Given the description of an element on the screen output the (x, y) to click on. 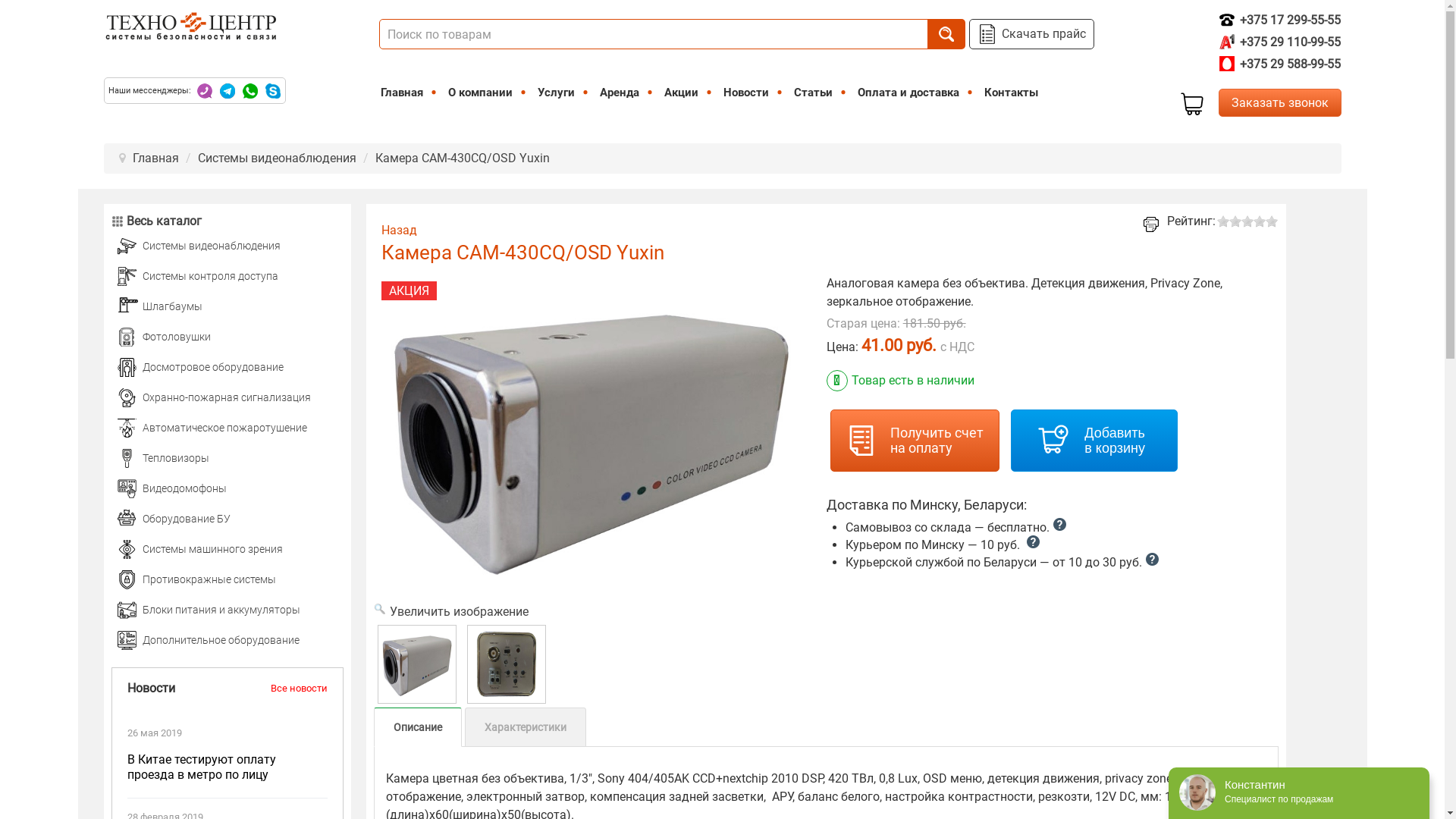
+375 17 299-55-55 Element type: text (1279, 19)
on Element type: text (4, 4)
+375 29 588-99-55 Element type: text (1279, 63)
+375 29 110-99-55 Element type: text (1279, 41)
